Given the description of an element on the screen output the (x, y) to click on. 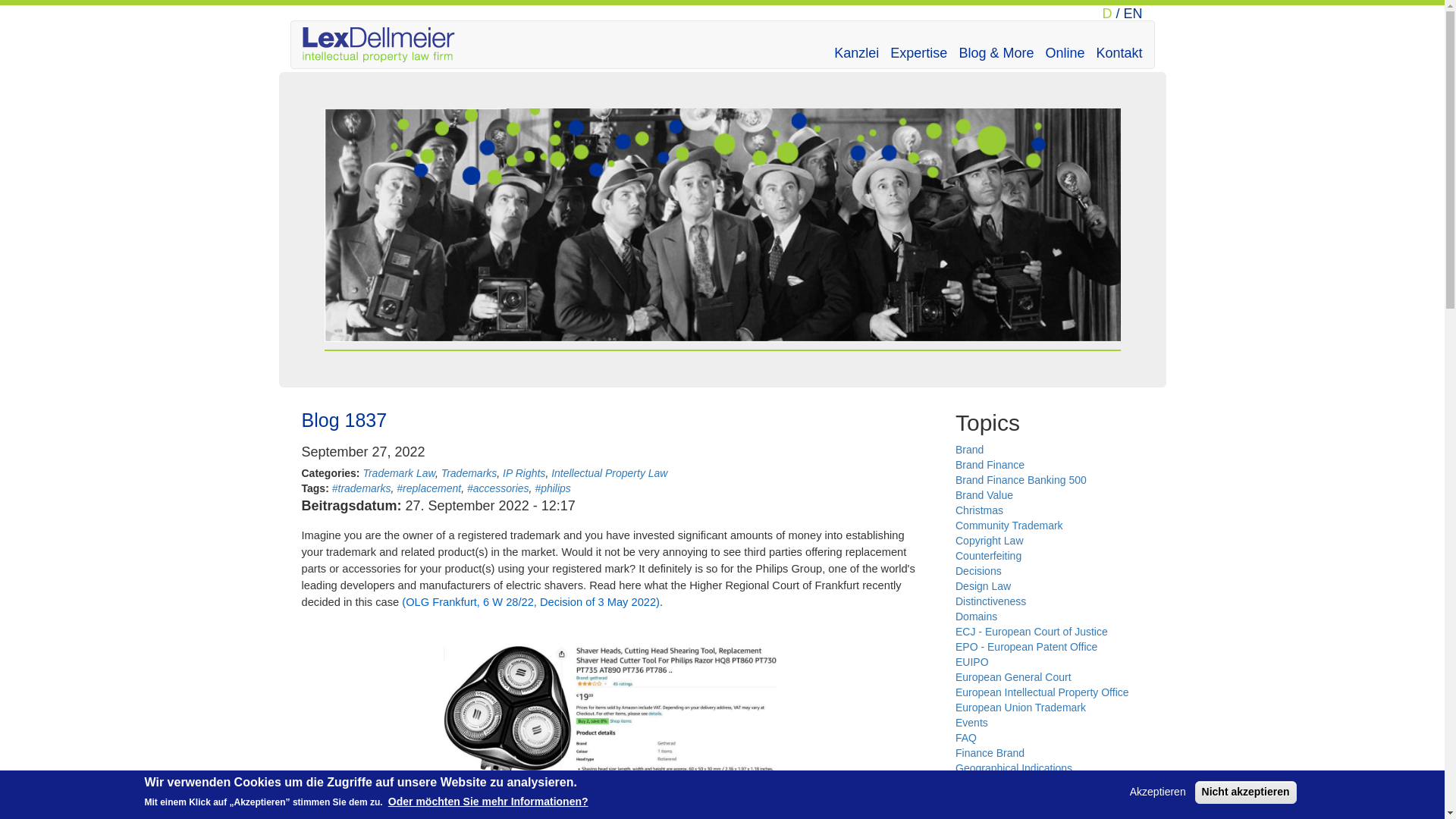
Expertise (913, 45)
EN (1131, 13)
Startseite (383, 44)
Kanzlei (850, 45)
